Given the description of an element on the screen output the (x, y) to click on. 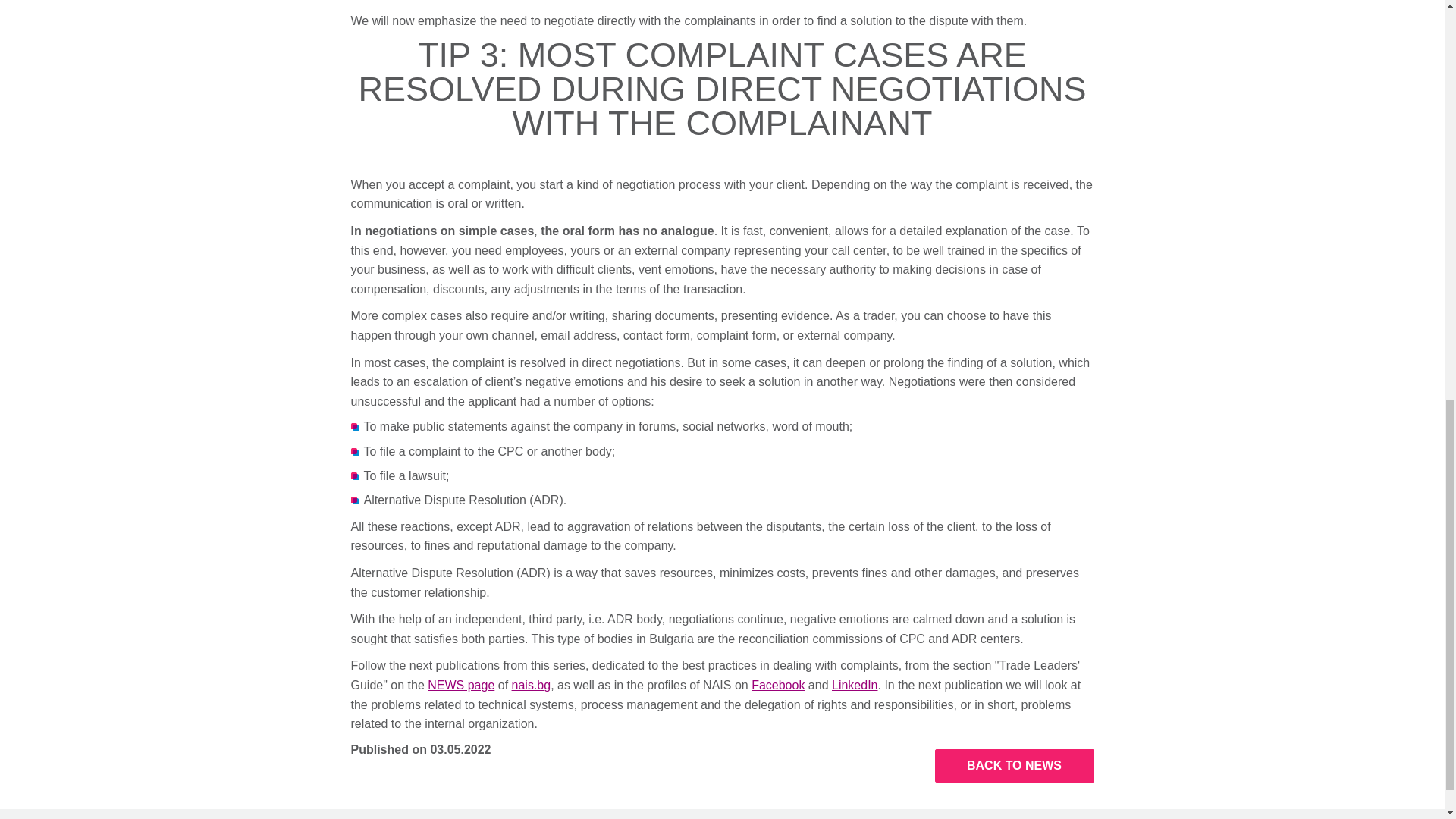
BACK TO NEWS (1013, 765)
nais.bg (531, 684)
NEWS page (461, 684)
Facebook (778, 684)
LinkedIn (854, 684)
